Given the description of an element on the screen output the (x, y) to click on. 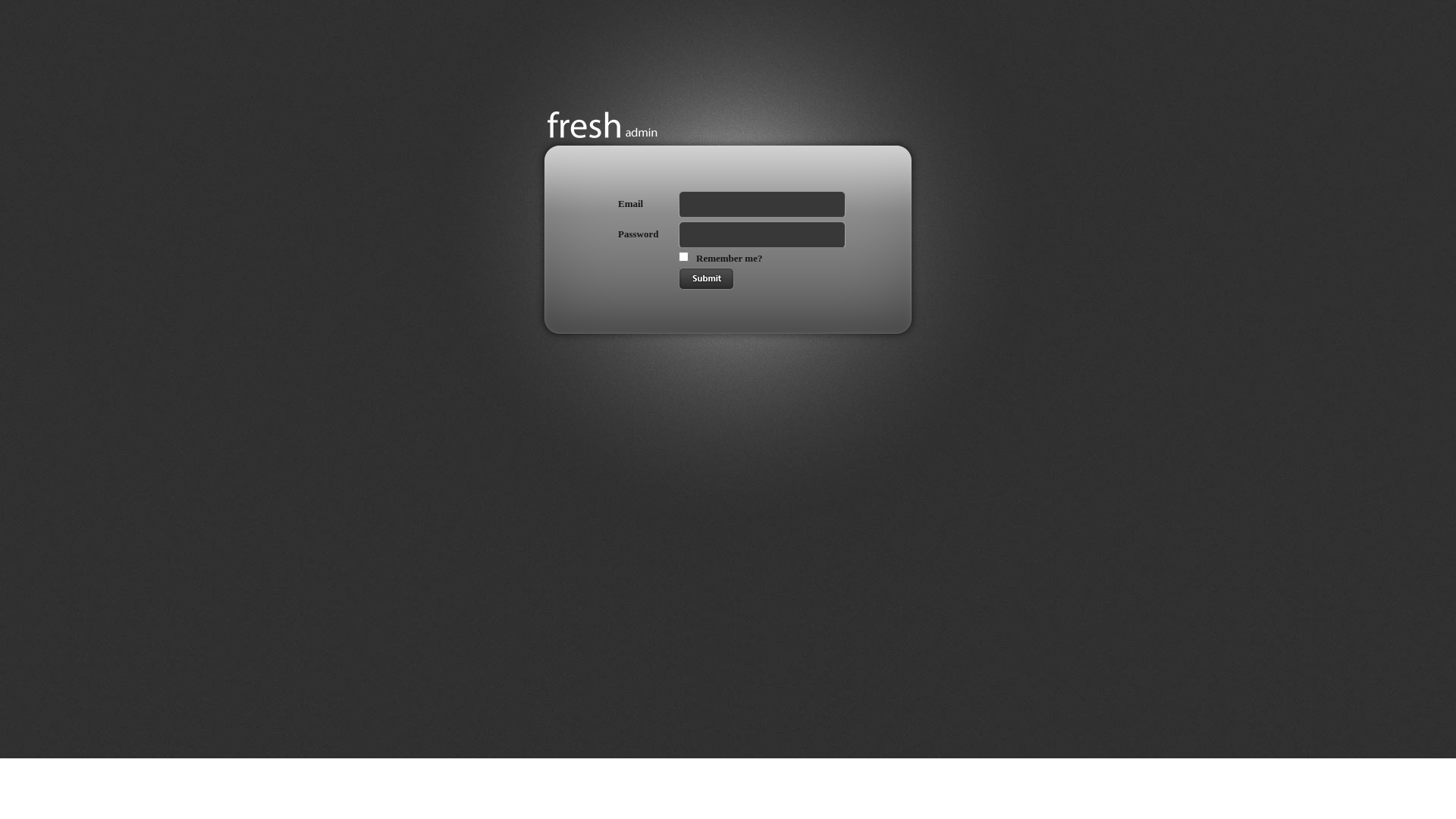
Login Element type: text (706, 278)
